Given the description of an element on the screen output the (x, y) to click on. 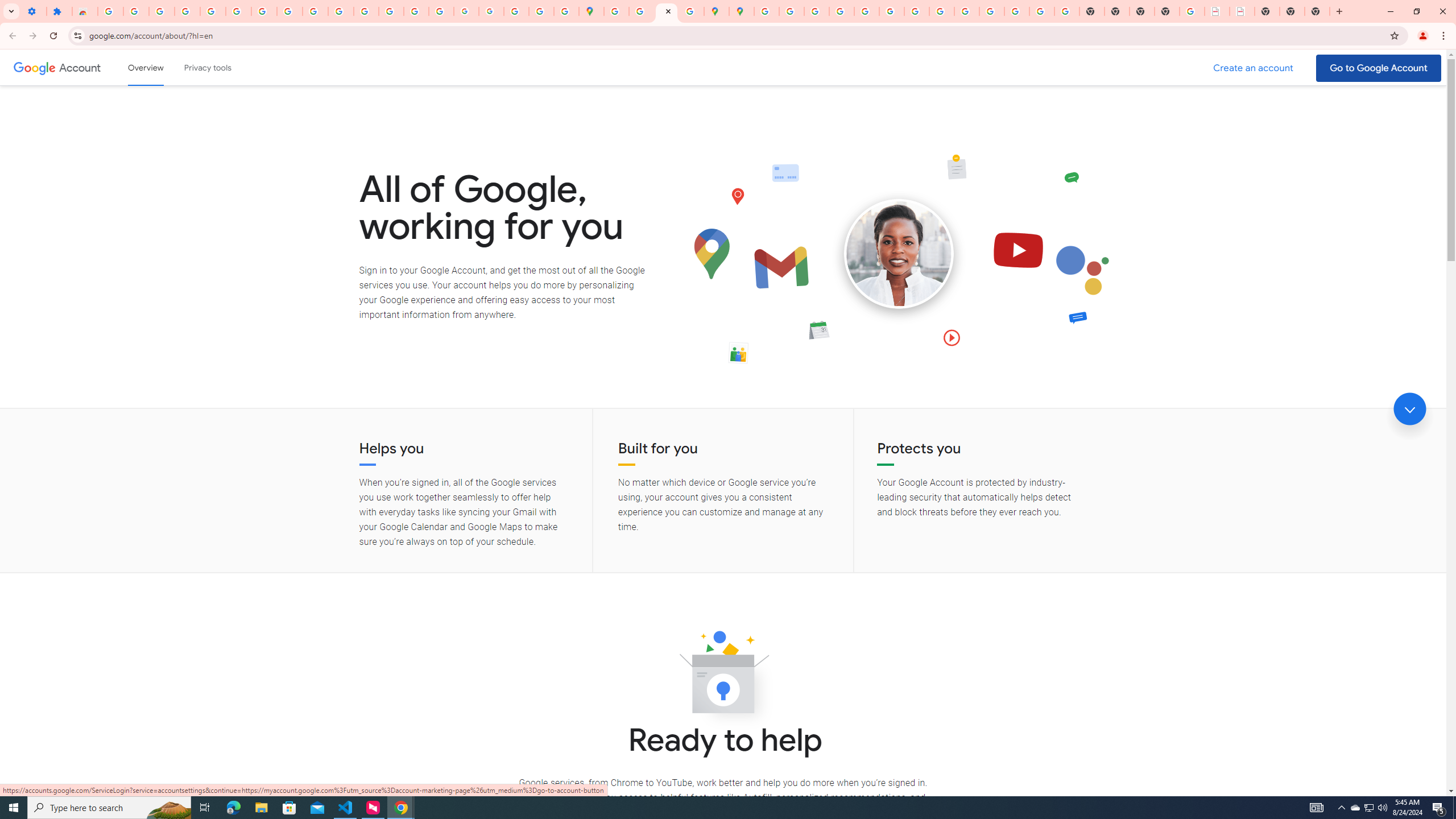
Google Account (289, 11)
Skip to Content (162, 65)
New Tab (1166, 11)
Sign in - Google Accounts (110, 11)
Privacy Help Center - Policies Help (816, 11)
Sign in - Google Accounts (238, 11)
Jump link (1409, 408)
